Given the description of an element on the screen output the (x, y) to click on. 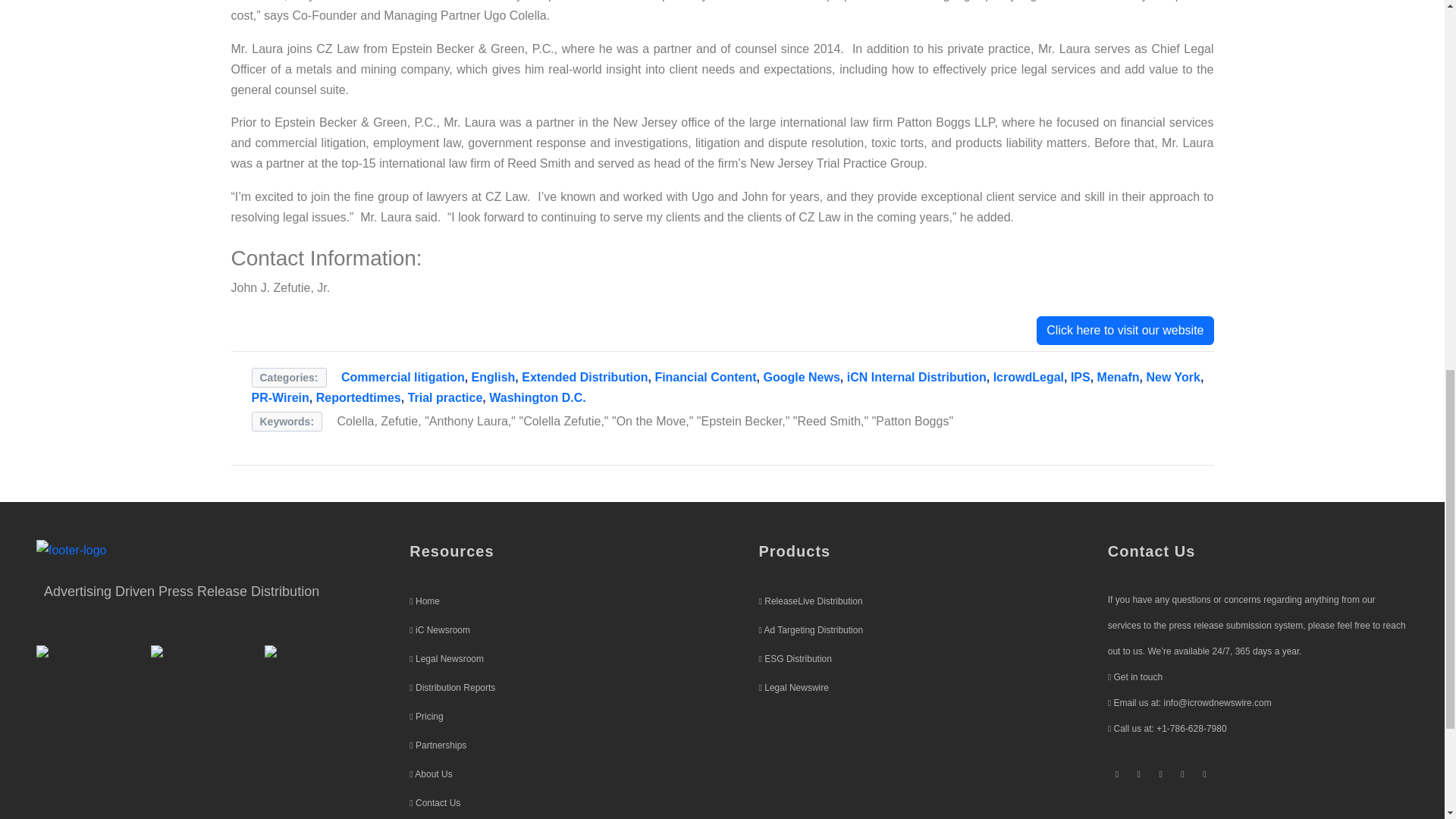
iCN Internal Distribution (917, 377)
IcrowdLegal (1028, 377)
PR-Wirein (279, 397)
Google News (801, 377)
Commercial litigation (402, 377)
Washington D.C. (537, 397)
Menafn (1118, 377)
English (493, 377)
New York (1172, 377)
Extended Distribution (584, 377)
